Given the description of an element on the screen output the (x, y) to click on. 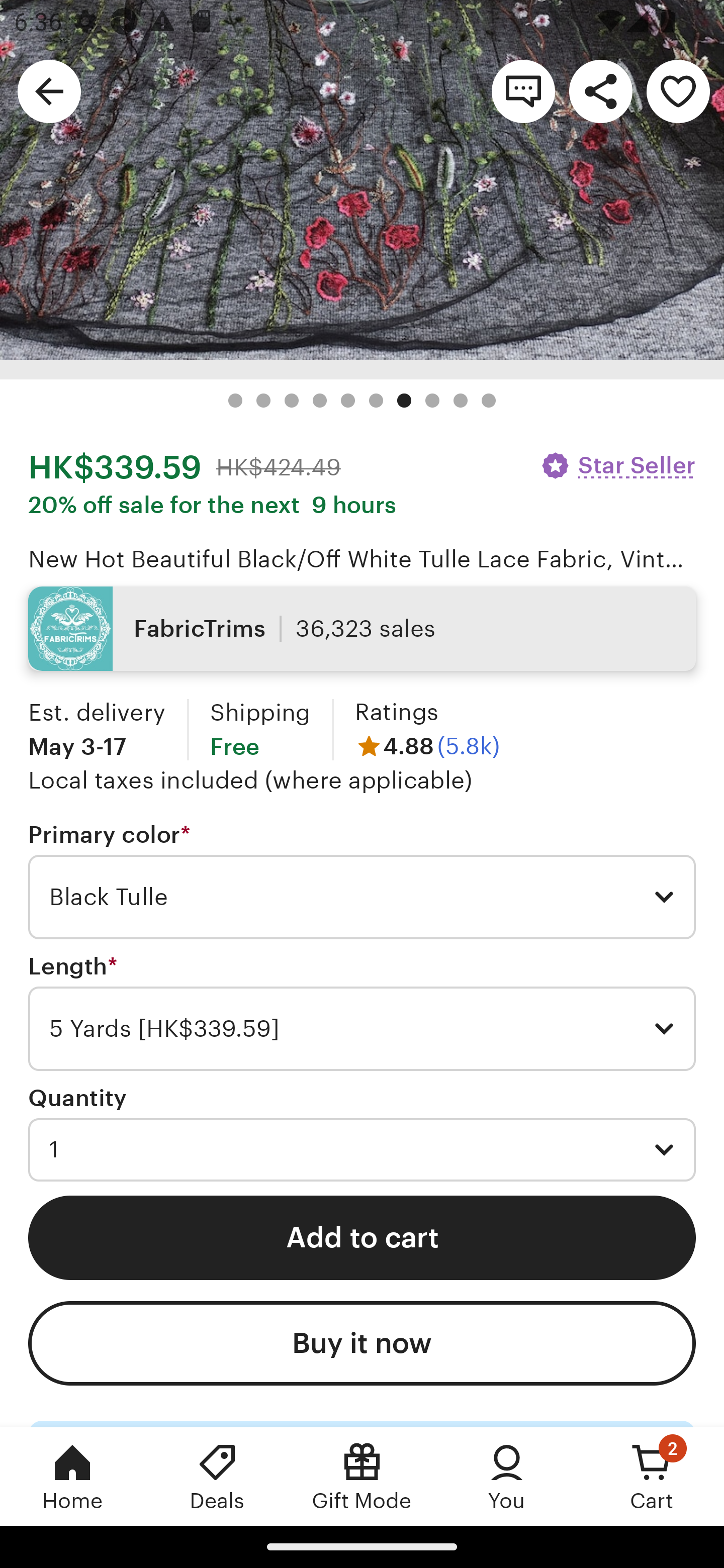
Navigate up (49, 90)
Contact shop (523, 90)
Share (600, 90)
Star Seller (617, 465)
FabricTrims 36,323 sales (361, 628)
Ratings (396, 711)
4.88 (5.8k) (427, 746)
Primary color * Required Black Tulle (361, 880)
Black Tulle (361, 896)
Length * Required 5 Yards [HK$339.59] (361, 1011)
5 Yards [HK$339.59] (361, 1028)
Quantity (77, 1098)
1 (361, 1149)
Add to cart (361, 1236)
Buy it now (361, 1343)
Deals (216, 1475)
Gift Mode (361, 1475)
You (506, 1475)
Cart, 2 new notifications Cart (651, 1475)
